Given the description of an element on the screen output the (x, y) to click on. 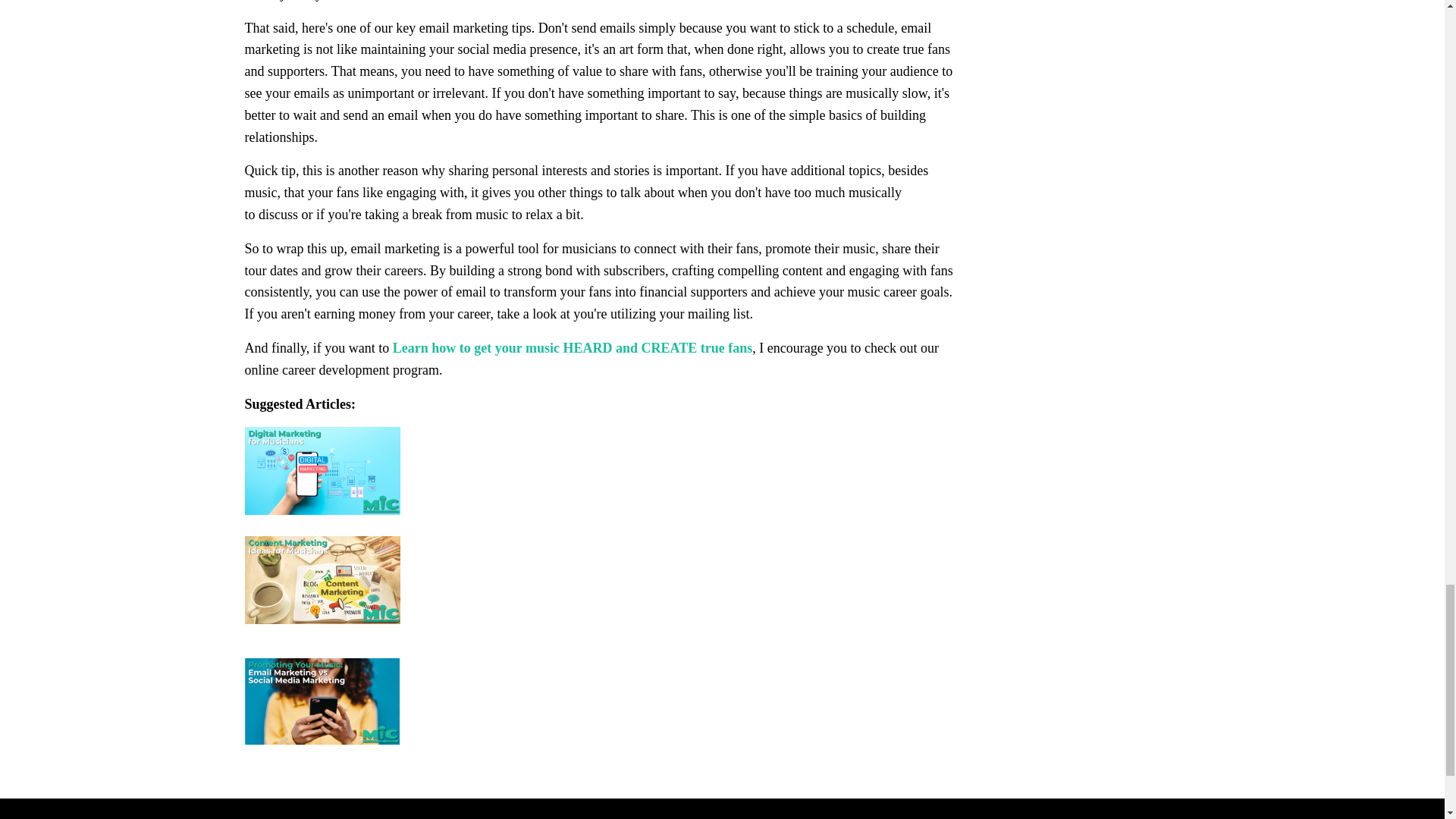
Learn how to get your music HEARD and CREATE true fans (572, 347)
Learn how to get your music HEARD and CREATE true fans  (572, 347)
Content Marketing Ideas for Musicians (599, 598)
Digital Marketing for Musicians (599, 479)
Promoting Your Music: Email vs Social Media Marketing (599, 701)
